Given the description of an element on the screen output the (x, y) to click on. 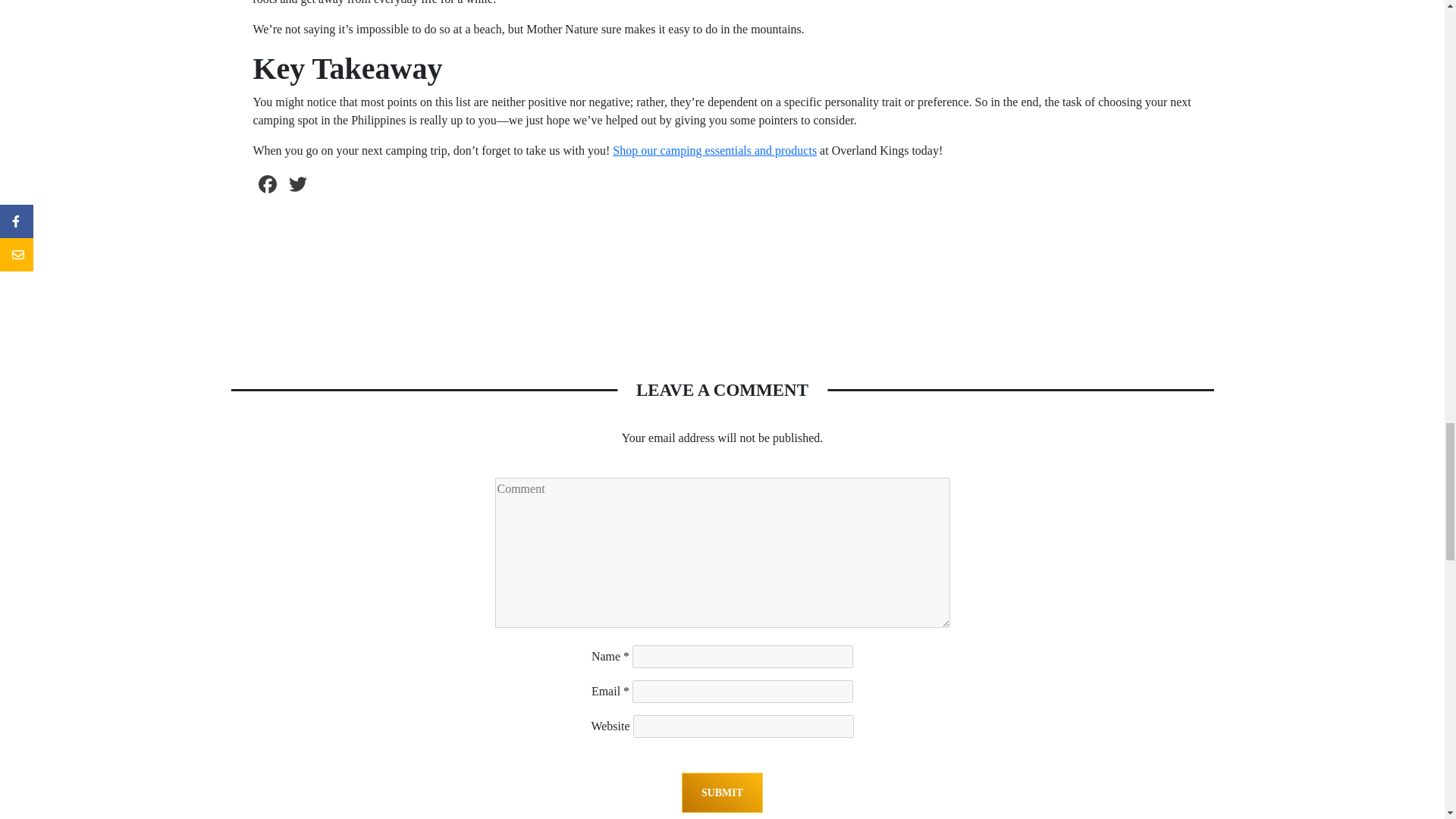
Facebook (266, 185)
Submit (721, 793)
Shop our camping essentials and products (714, 150)
Twitter (297, 185)
Submit (721, 793)
Facebook (266, 185)
Twitter (297, 185)
